Given the description of an element on the screen output the (x, y) to click on. 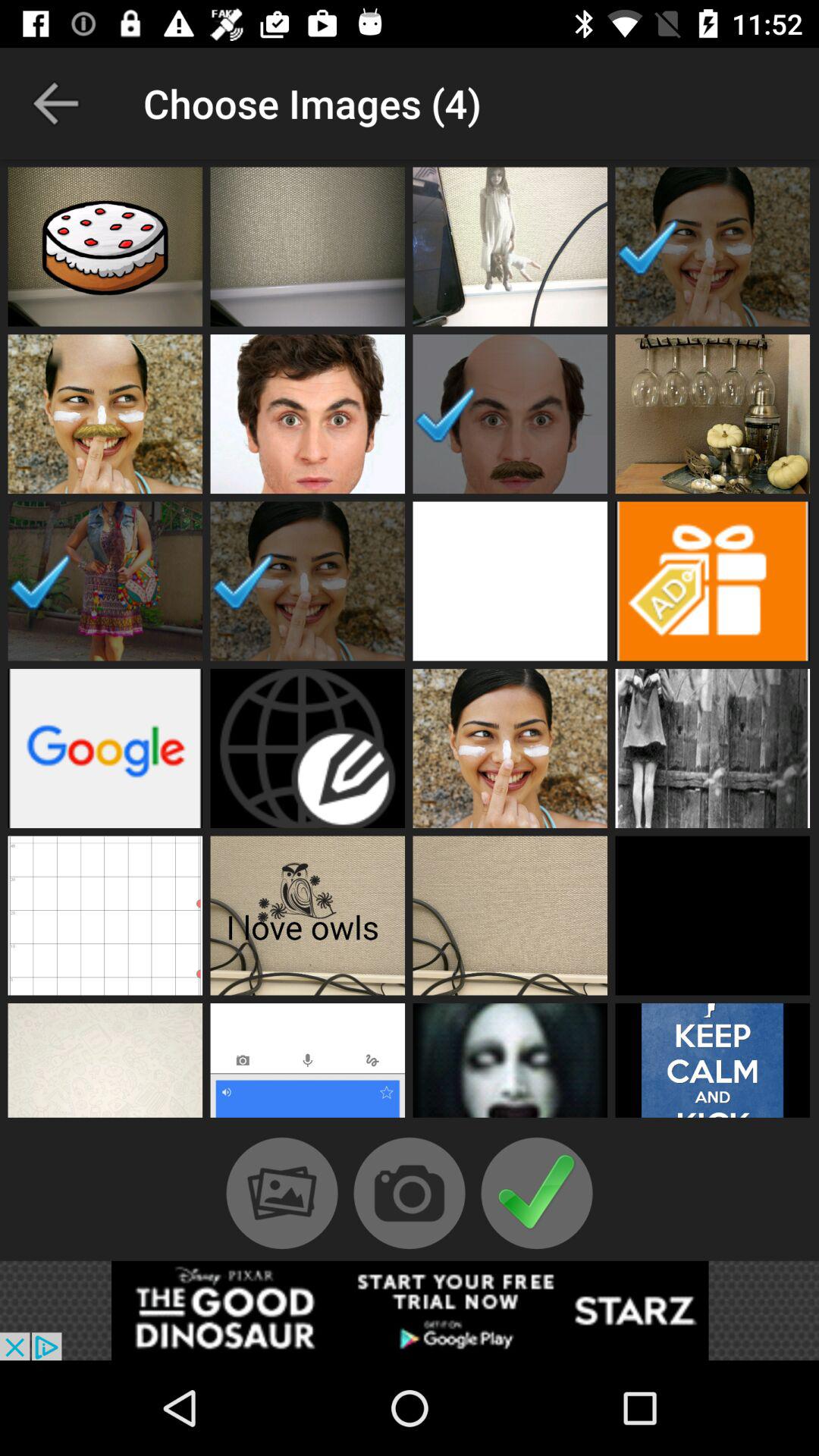
choose the image (712, 1064)
